Given the description of an element on the screen output the (x, y) to click on. 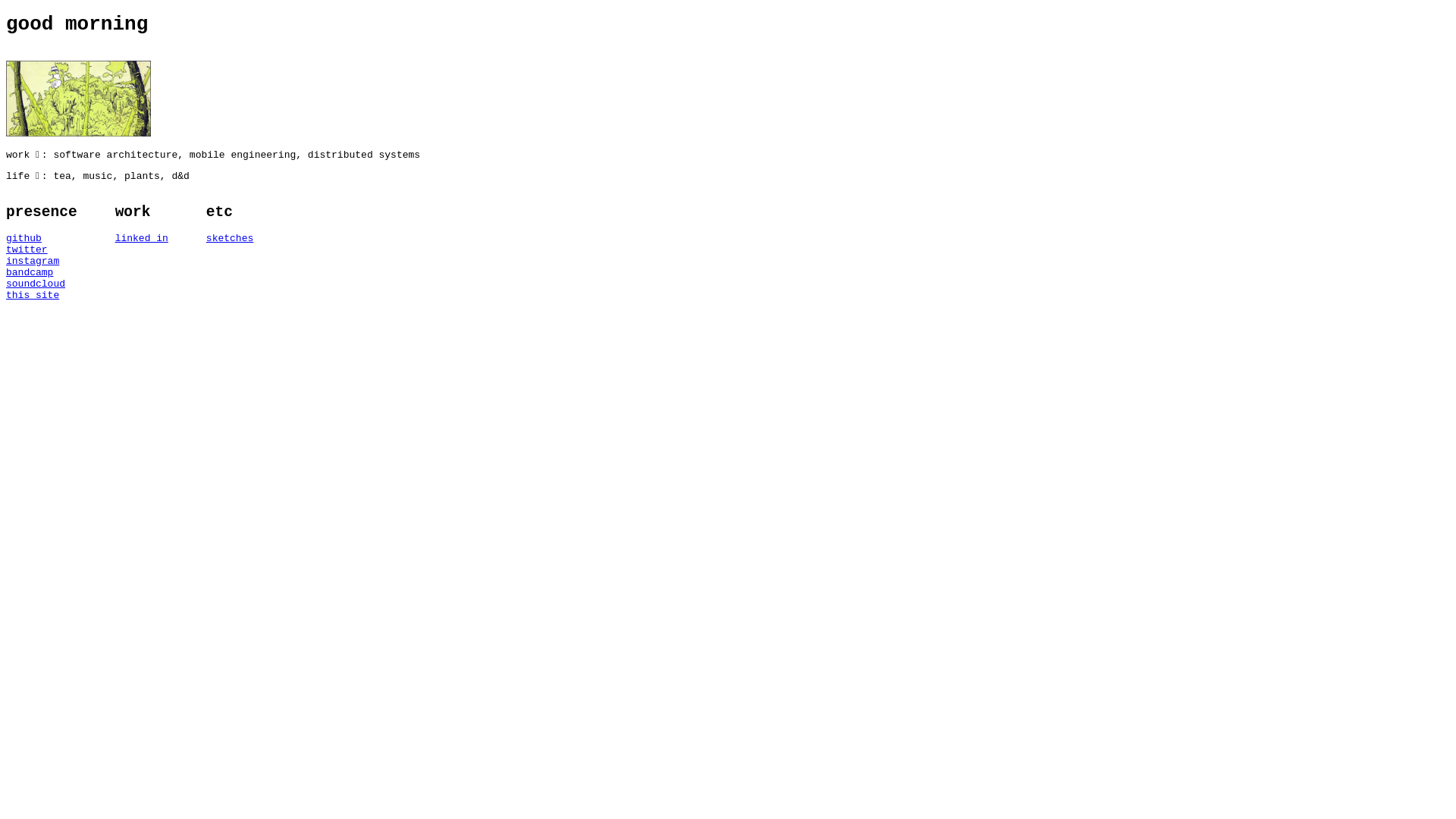
linked in Element type: text (141, 238)
sketches Element type: text (229, 238)
instagram Element type: text (41, 260)
soundcloud Element type: text (41, 283)
github Element type: text (41, 238)
this site Element type: text (41, 295)
twitter Element type: text (41, 249)
bandcamp Element type: text (41, 272)
